Given the description of an element on the screen output the (x, y) to click on. 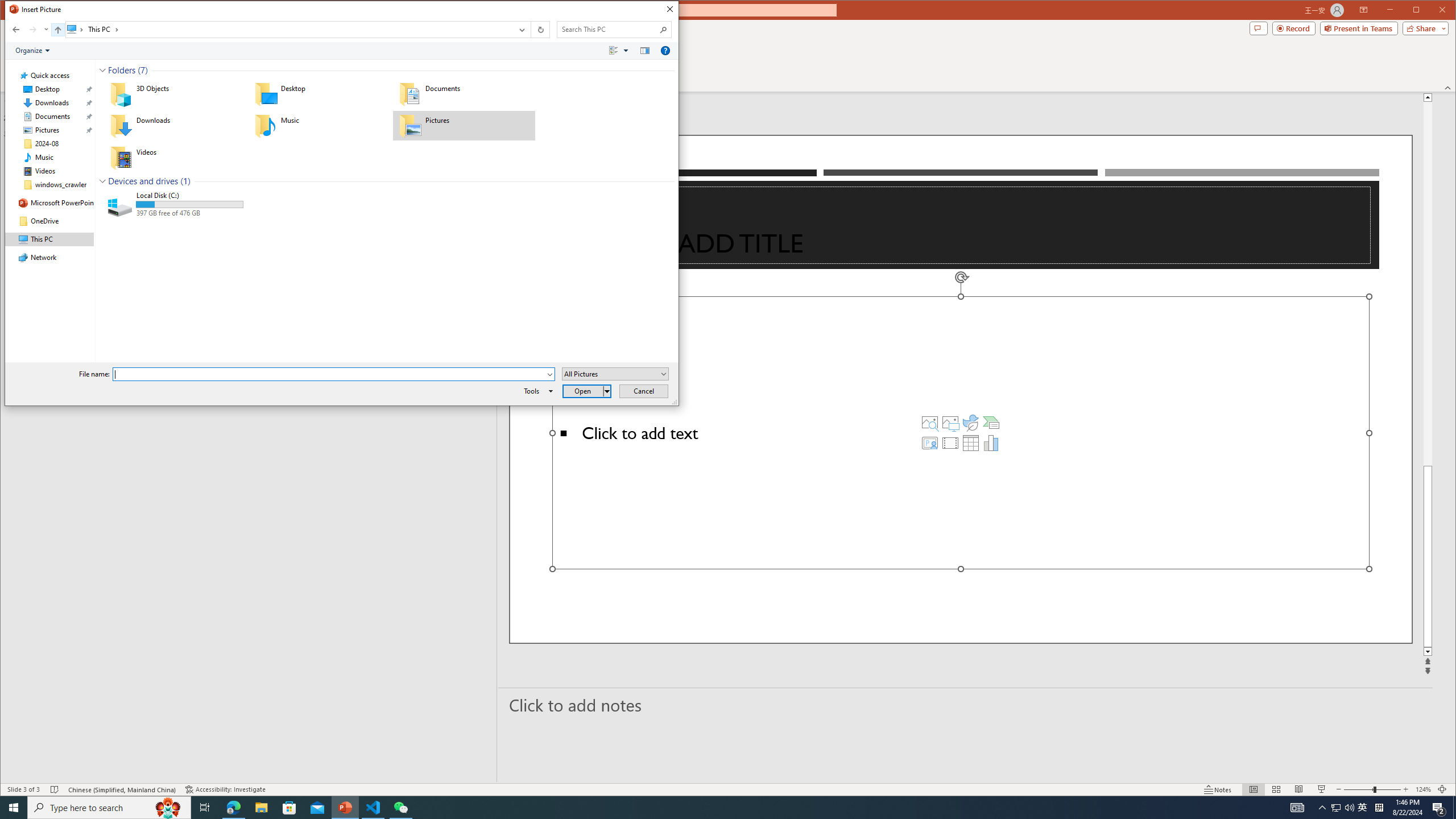
Local Disk (C:) (174, 204)
Insert a SmartArt Graphic (991, 422)
File name: (329, 374)
Running applications (707, 807)
Name (189, 194)
Organize (32, 50)
Search Box (608, 29)
